Given the description of an element on the screen output the (x, y) to click on. 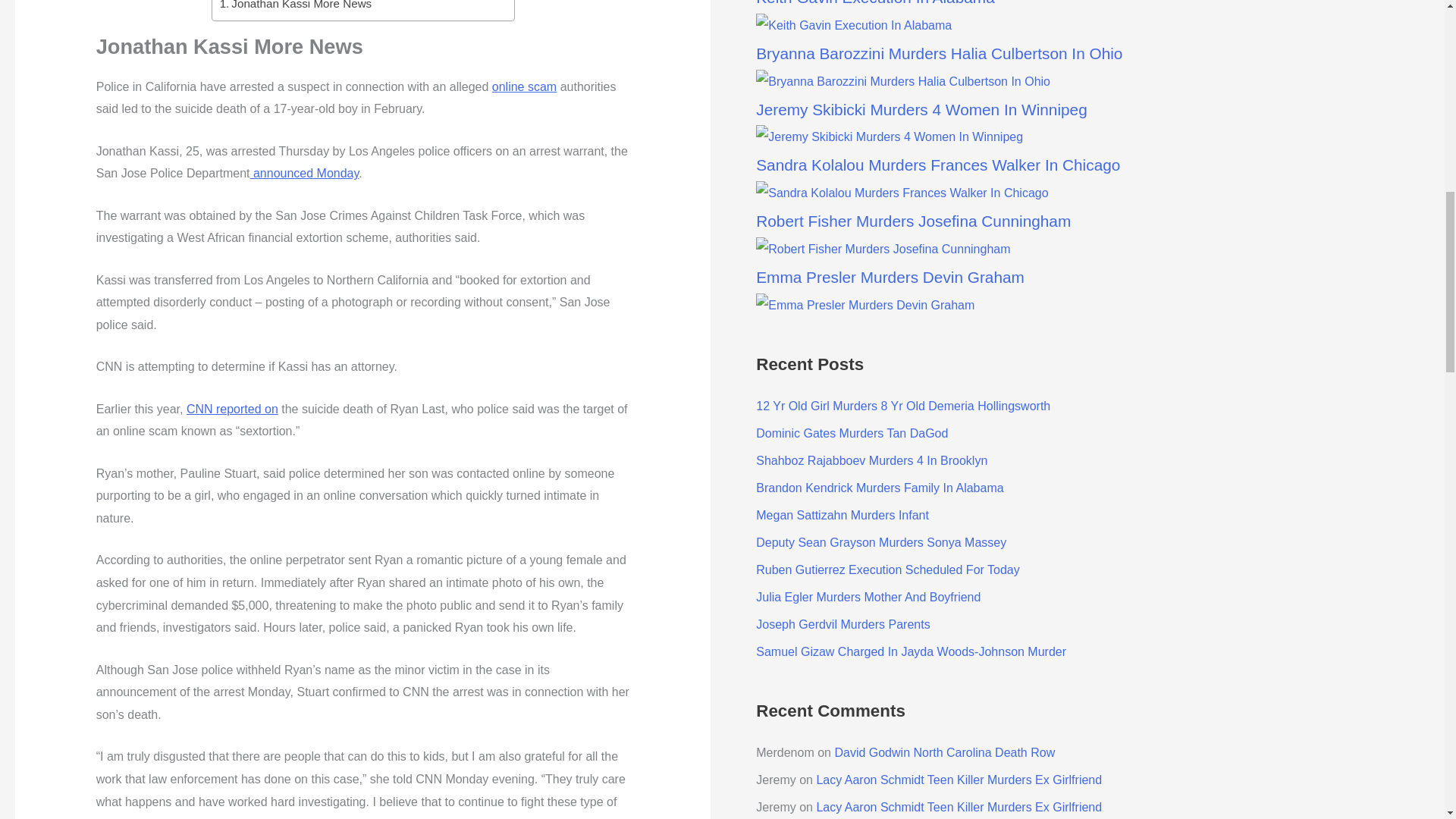
Jonathan Kassi More News (295, 6)
Jonathan Kassi More News (295, 6)
